Given the description of an element on the screen output the (x, y) to click on. 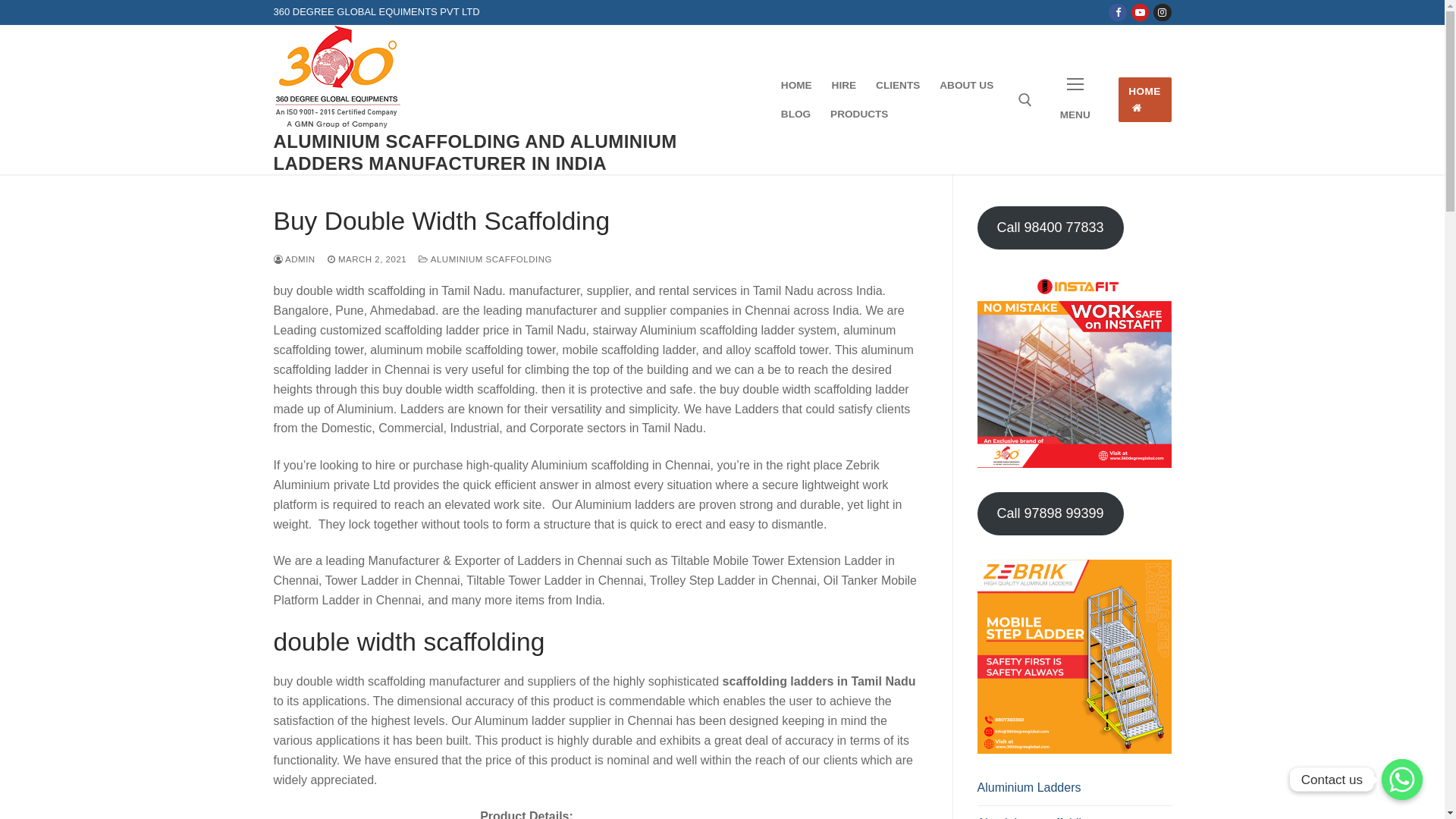
ALUMINIUM SCAFFOLDING Element type: text (485, 258)
Contact us Element type: text (1401, 779)
MENU Element type: text (1075, 99)
MARCH 2, 2021 Element type: text (367, 258)
ABOUT US Element type: text (966, 85)
Aluminium Ladders Element type: text (1073, 791)
PRODUCTS Element type: text (858, 114)
Call 97898 99399 Element type: text (1049, 513)
BLOG Element type: text (795, 114)
CLIENTS Element type: text (897, 85)
HIRE Element type: text (844, 85)
HOME Element type: text (796, 85)
Instagram Element type: hover (1162, 12)
Youtube Element type: hover (1140, 12)
Facebook Element type: hover (1118, 12)
ADMIN Element type: text (293, 258)
Call 98400 77833 Element type: text (1049, 227)
HOME Element type: text (1144, 99)
